Given the description of an element on the screen output the (x, y) to click on. 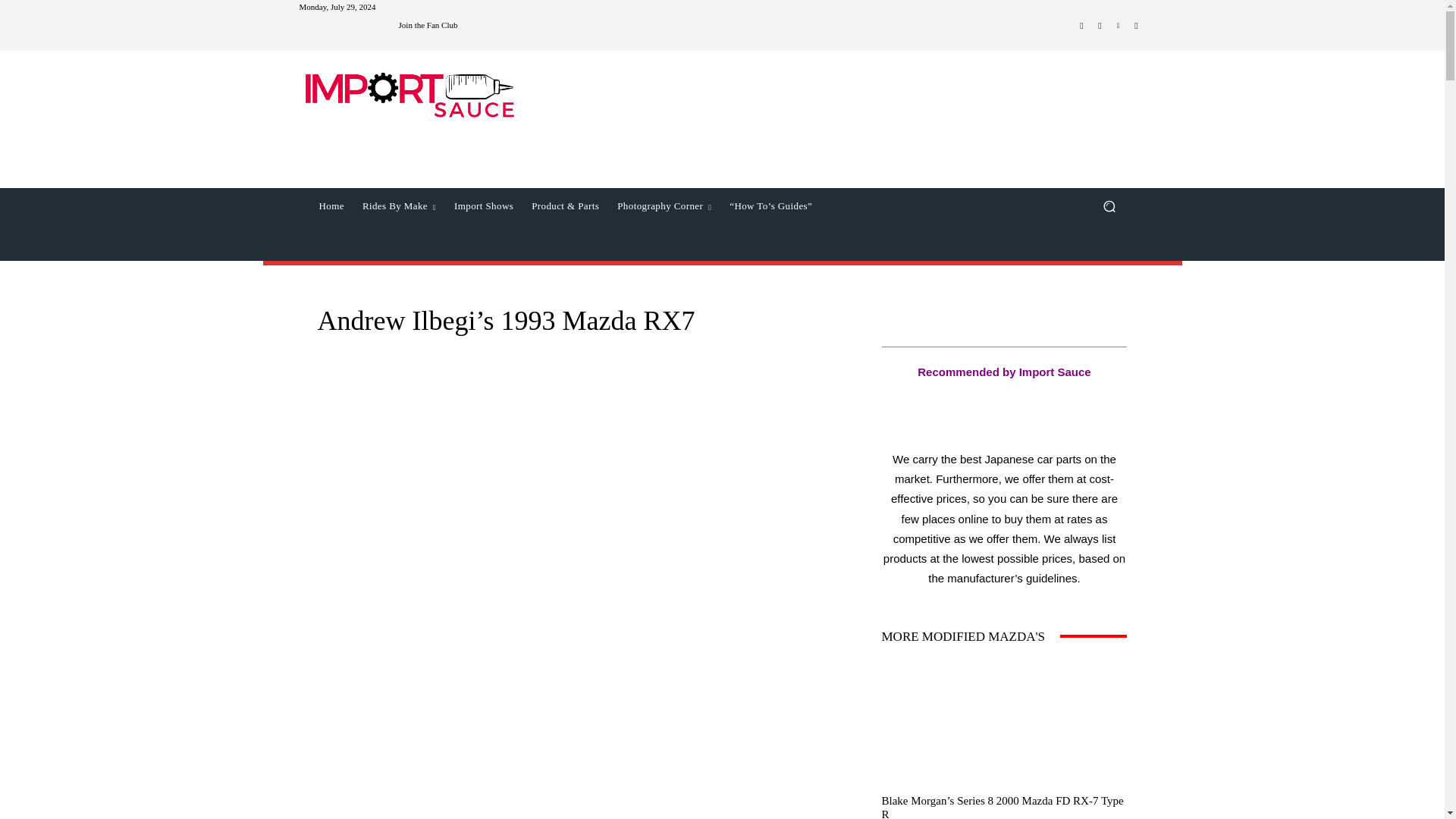
Join the Fan Club (428, 25)
Youtube (1135, 25)
Home (330, 206)
Facebook (1080, 25)
Twitter (1117, 25)
Rides By Make (399, 206)
Instagram (1099, 25)
